Given the description of an element on the screen output the (x, y) to click on. 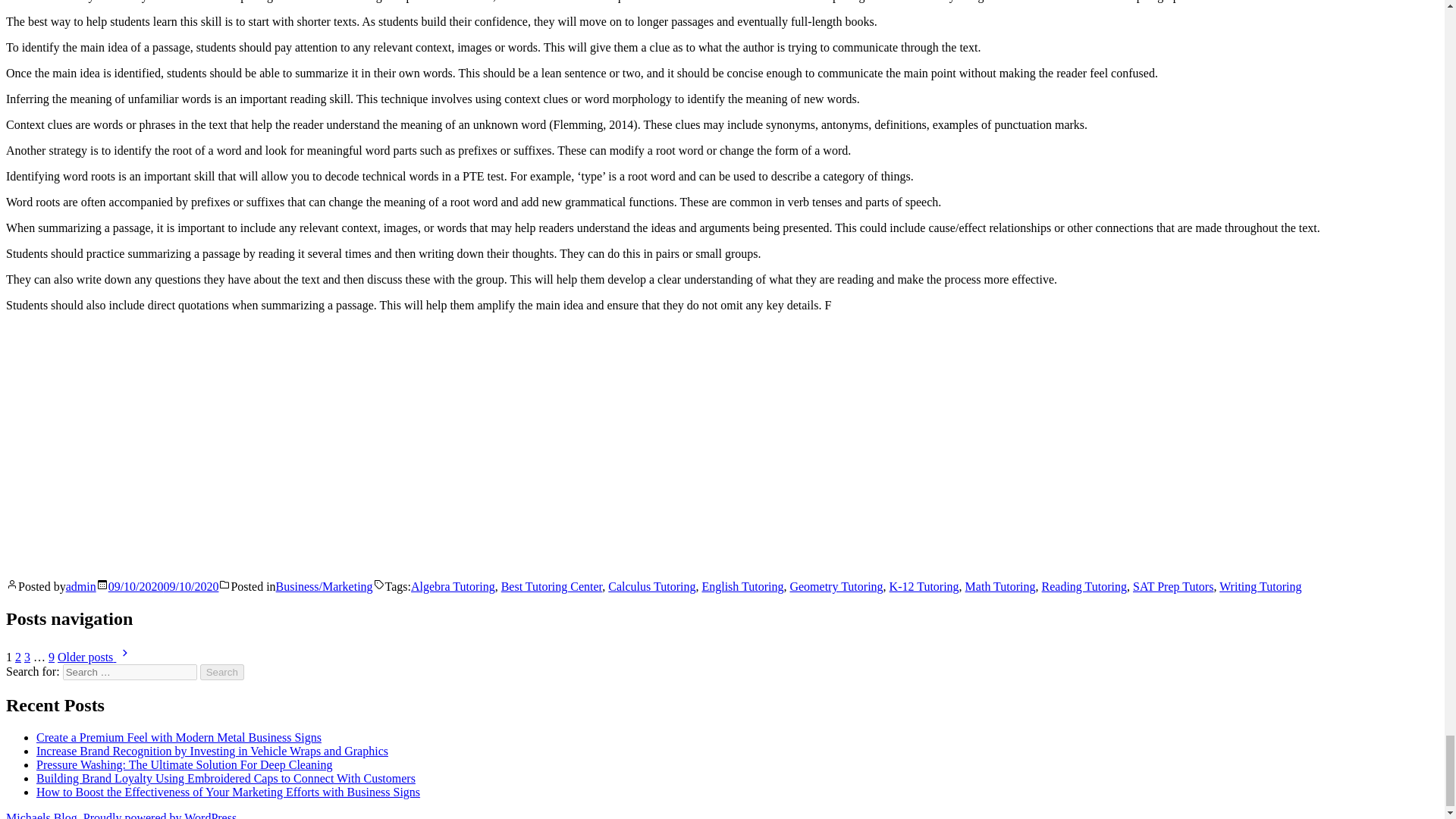
Search (222, 672)
Search (222, 672)
YouTube video player (217, 443)
